Given the description of an element on the screen output the (x, y) to click on. 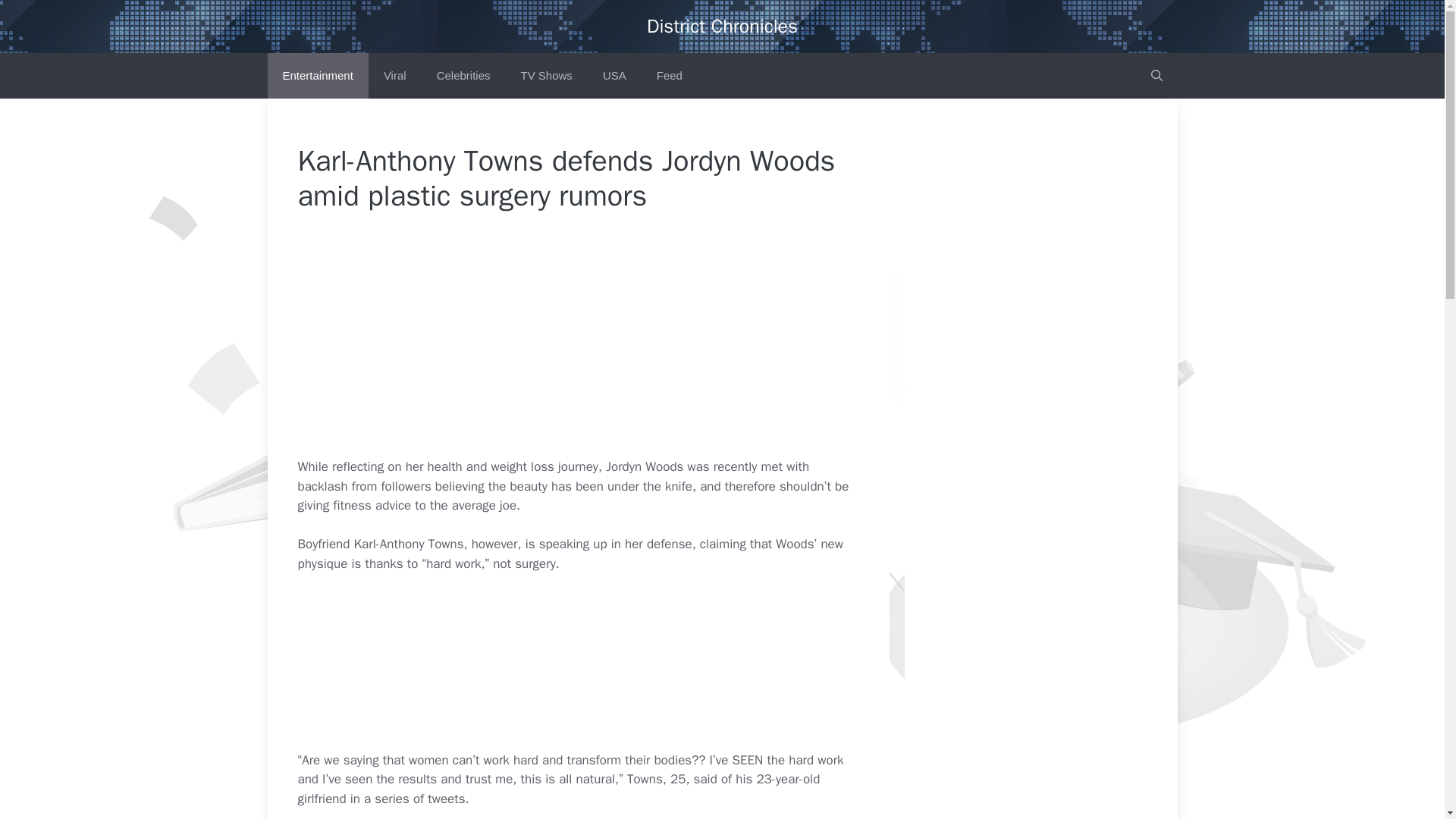
TV Shows (546, 75)
series of tweets. (421, 798)
Viral (395, 75)
District Chronicles (721, 25)
Entertainment (317, 75)
Feed (669, 75)
Advertisement (611, 668)
USA (615, 75)
Celebrities (463, 75)
Advertisement (611, 345)
